Given the description of an element on the screen output the (x, y) to click on. 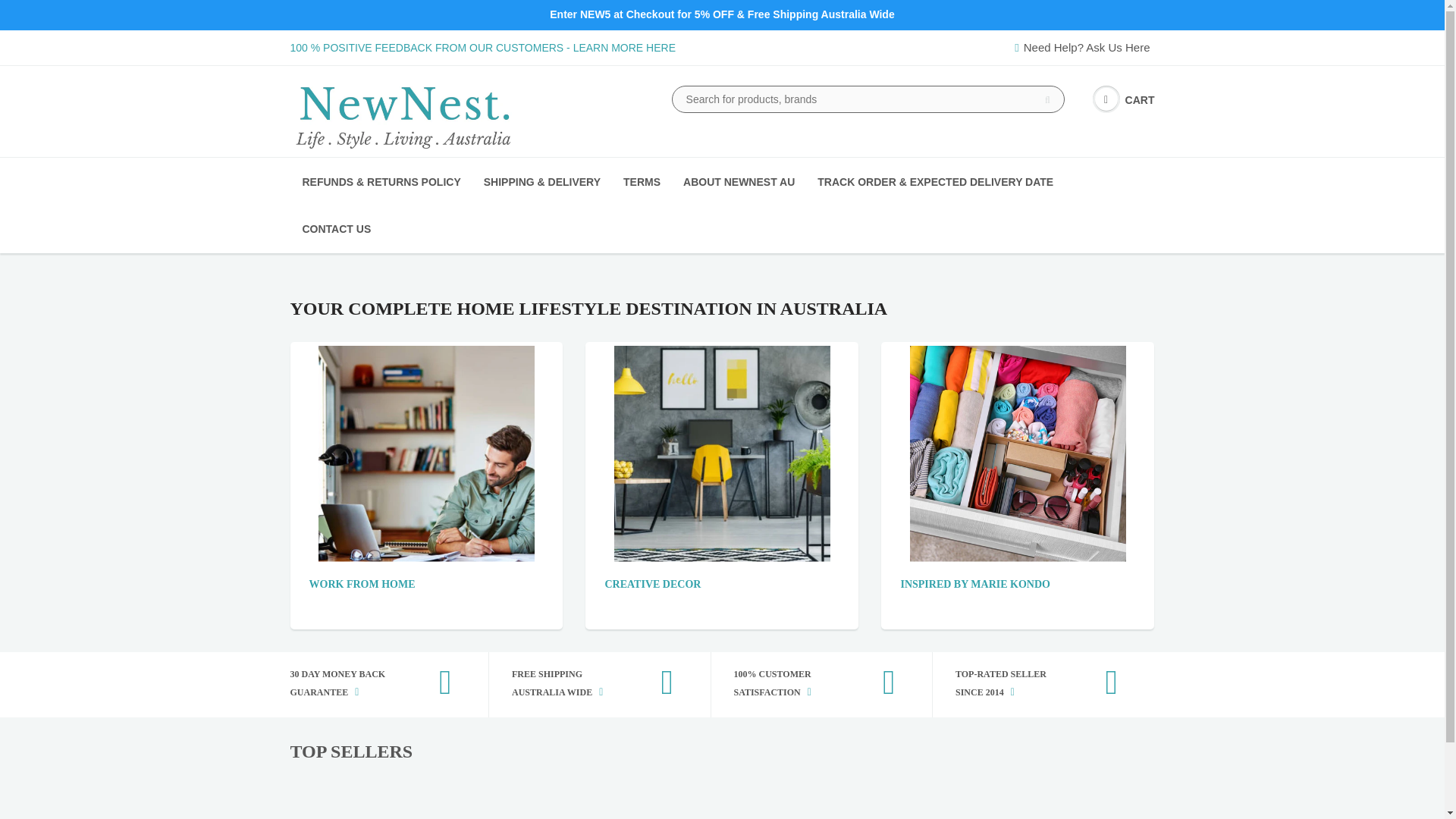
FREE SHIPPING AUSTRALIA WIDE (588, 684)
Browse our inspired by marie kondo collection (974, 583)
CREATIVE DECOR (652, 583)
Need Help? Ask Us Here (1084, 47)
CONTACT US (336, 228)
30 DAY MONEY BACK GUARANTEE (365, 684)
WORK FROM HOME (361, 583)
TOP-RATED SELLER SINCE 2014 (1032, 684)
Browse our Work from Home collection (361, 583)
Browse our Creative Decor collection (652, 583)
